Given the description of an element on the screen output the (x, y) to click on. 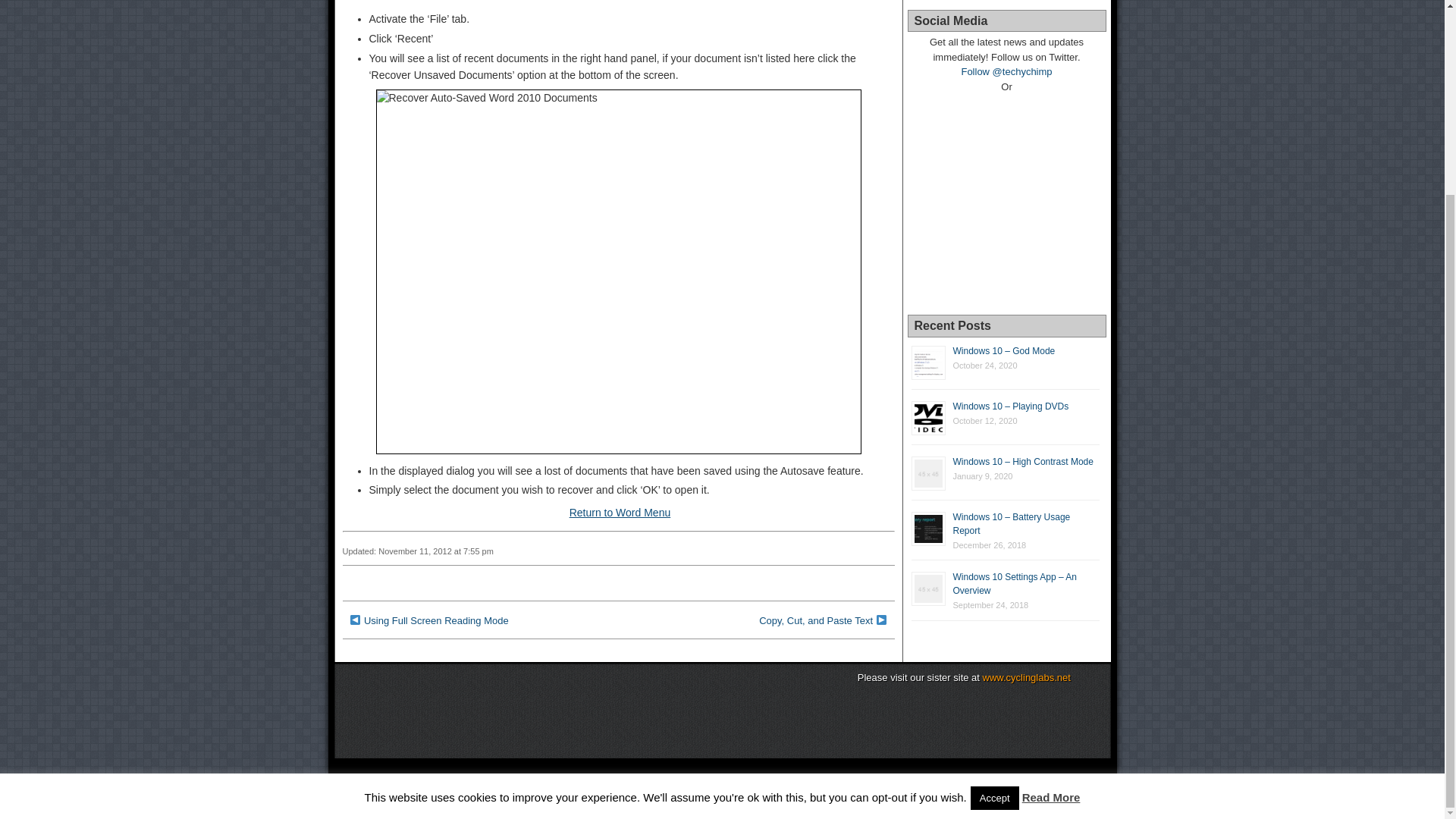
Using Full Screen Reading Mode (436, 620)
Copy, Cut, and Paste Text (815, 620)
Accept (995, 552)
www.cyclinglabs.net (1026, 677)
Read More (1051, 551)
Return to Word Menu (620, 512)
